Given the description of an element on the screen output the (x, y) to click on. 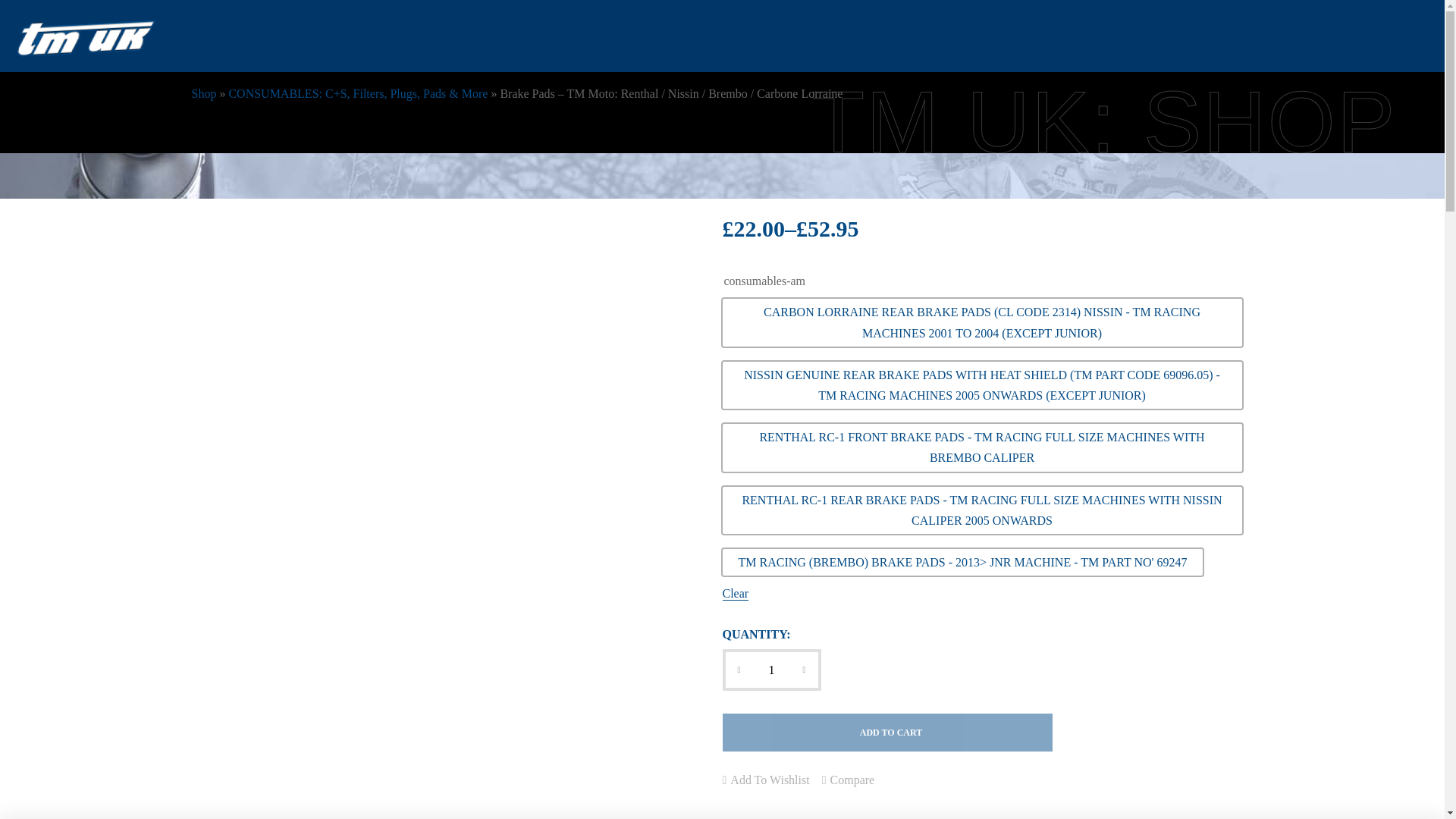
1 (771, 669)
